Given the description of an element on the screen output the (x, y) to click on. 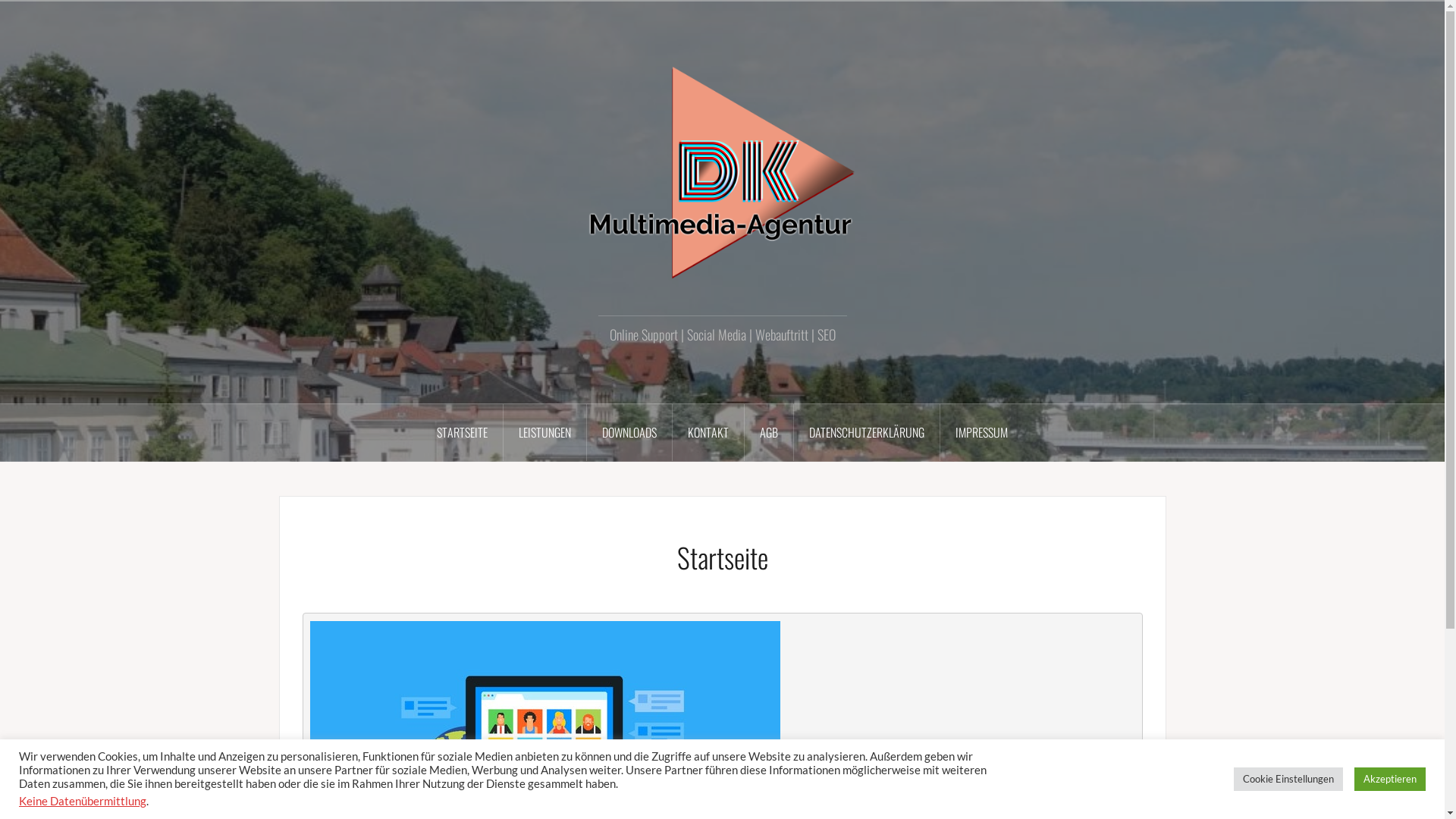
LEISTUNGEN Element type: text (544, 432)
KONTAKT Element type: text (708, 432)
STARTSEITE Element type: text (462, 432)
IMPRESSUM Element type: text (981, 432)
Akzeptieren Element type: text (1389, 778)
AGB Element type: text (768, 432)
DOWNLOADS Element type: text (629, 432)
Cookie Einstellungen Element type: text (1288, 778)
